Given the description of an element on the screen output the (x, y) to click on. 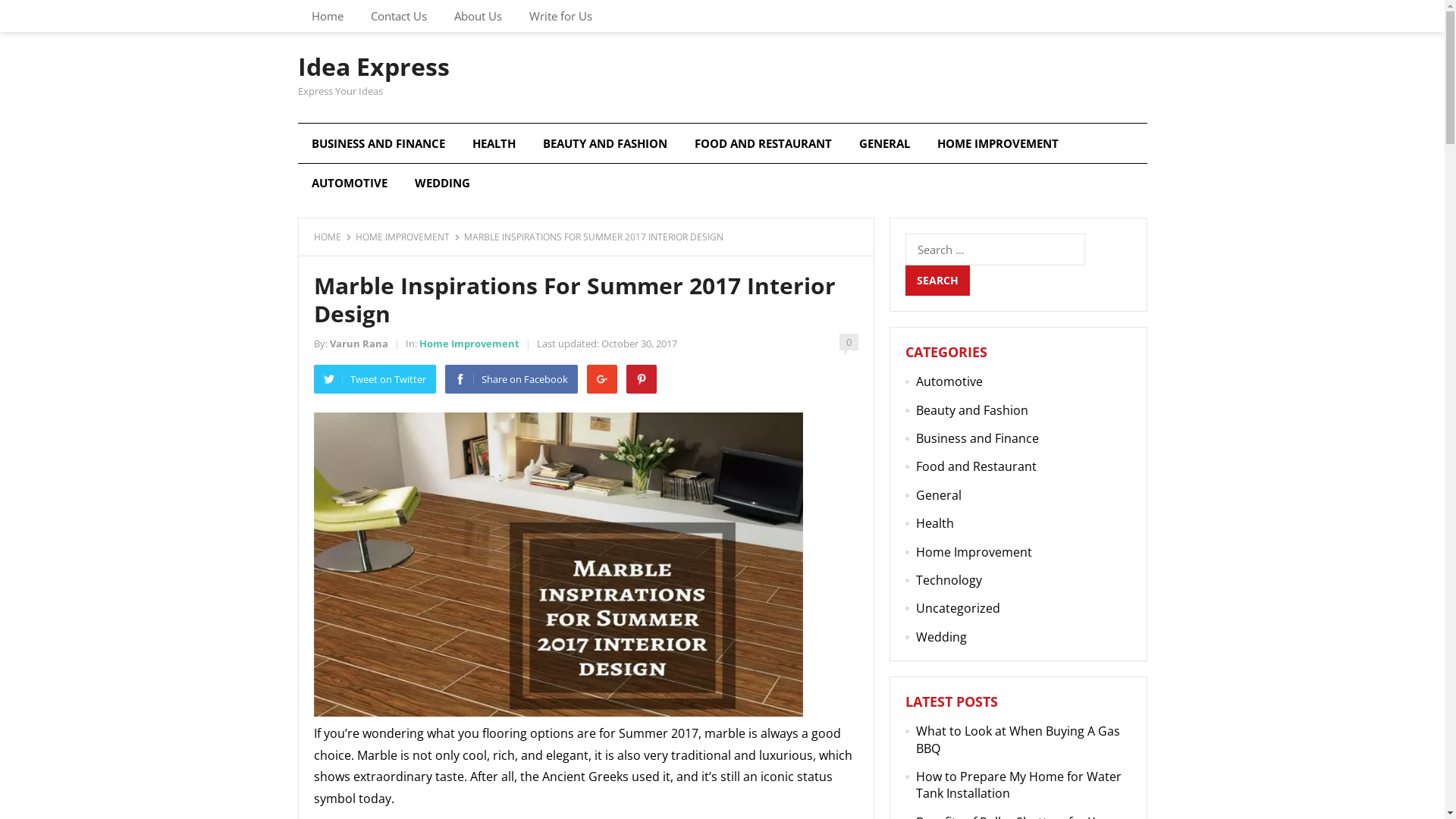
FOOD AND RESTAURANT Element type: text (762, 143)
Uncategorized Element type: text (958, 607)
Google+ Element type: text (601, 378)
HOME IMPROVEMENT Element type: text (406, 236)
General Element type: text (938, 494)
Business and Finance Element type: text (977, 437)
Beauty and Fashion Element type: text (972, 409)
Home Element type: text (326, 15)
Technology Element type: text (949, 579)
HEALTH Element type: text (493, 143)
Write for Us Element type: text (560, 15)
Food and Restaurant Element type: text (976, 466)
Search Element type: text (937, 280)
Home Improvement Element type: text (468, 343)
About Us Element type: text (476, 15)
GENERAL Element type: text (883, 143)
Automotive Element type: text (949, 381)
WEDDING Element type: text (441, 182)
BUSINESS AND FINANCE Element type: text (377, 143)
0 Element type: text (847, 341)
Contact Us Element type: text (397, 15)
HOME IMPROVEMENT Element type: text (997, 143)
Health Element type: text (934, 522)
Pinterest Element type: text (641, 378)
What to Look at When Buying A Gas BBQ Element type: text (1018, 739)
How to Prepare My Home for Water Tank Installation Element type: text (1018, 784)
Wedding Element type: text (941, 636)
Varun Rana Element type: text (358, 343)
Tweet on Twitter Element type: text (374, 378)
HOME Element type: text (332, 236)
Home Improvement Element type: text (974, 551)
Share on Facebook Element type: text (510, 378)
BEAUTY AND FASHION Element type: text (604, 143)
Idea Express Element type: text (372, 66)
AUTOMOTIVE Element type: text (348, 182)
